Given the description of an element on the screen output the (x, y) to click on. 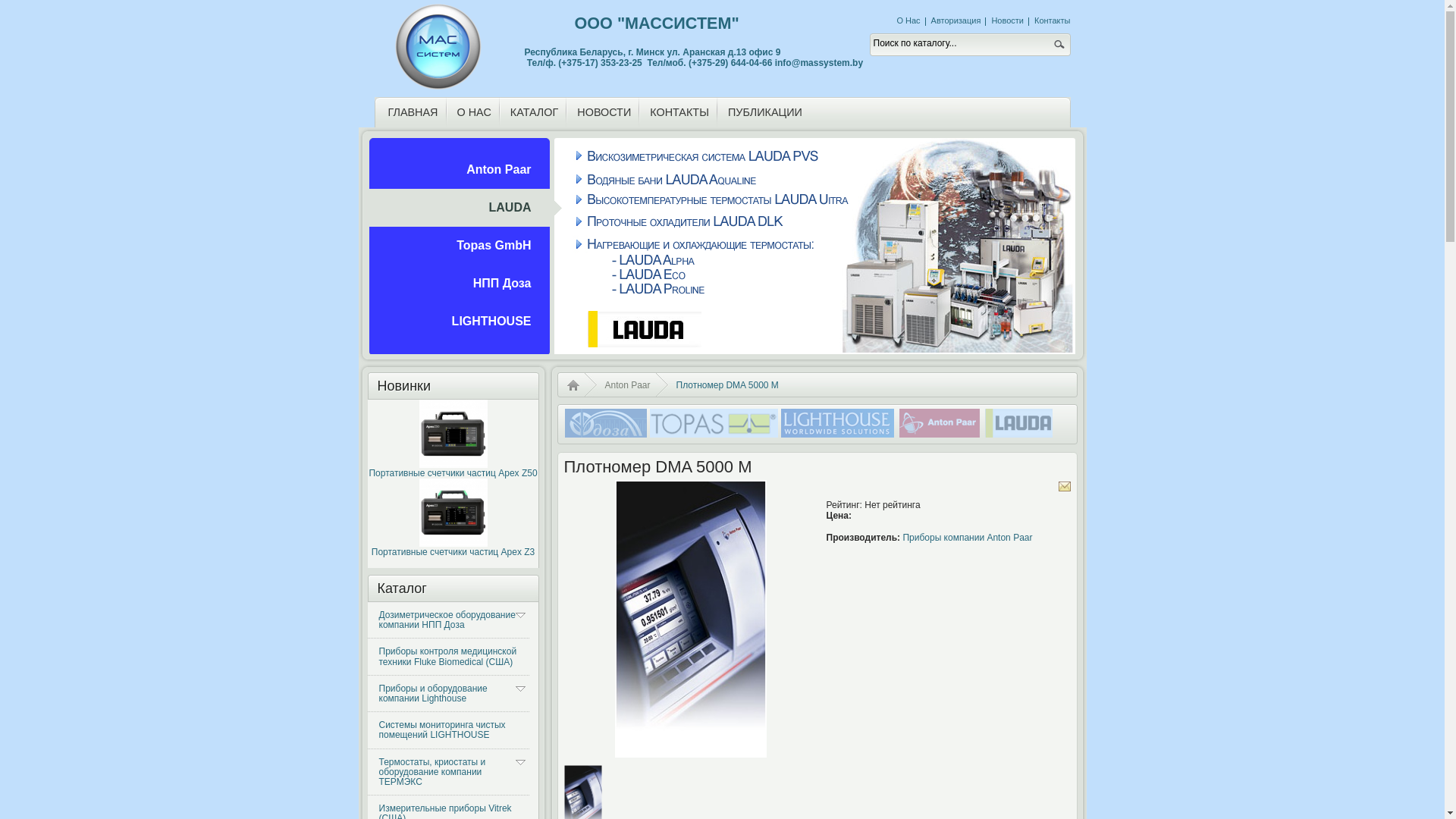
info@massystem.by Element type: text (818, 62)
massystem.by Element type: hover (441, 47)
Anton Paar Element type: text (627, 384)
